Given the description of an element on the screen output the (x, y) to click on. 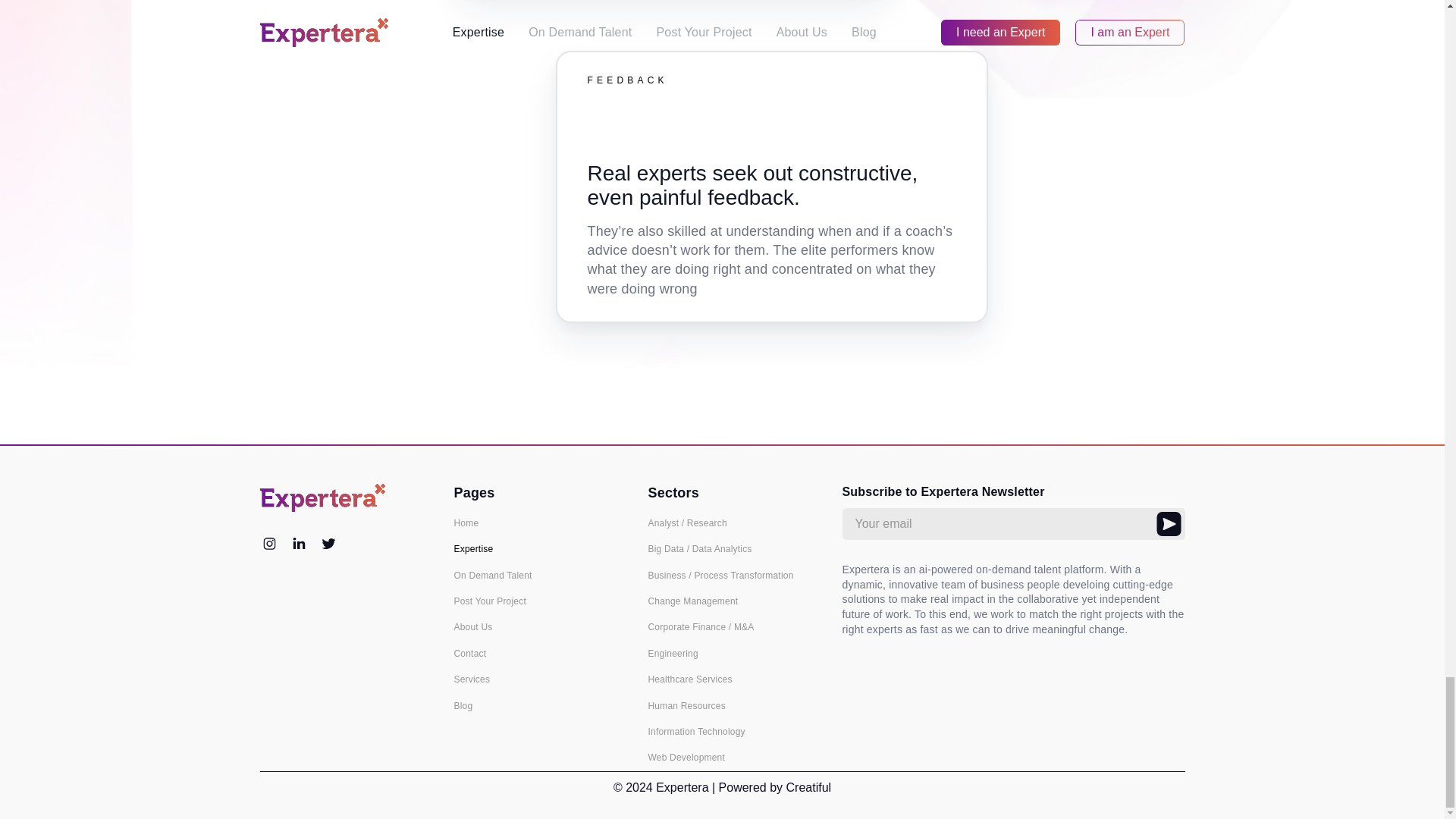
Home (538, 522)
Expertise (538, 548)
On Demand Talent (538, 575)
